Given the description of an element on the screen output the (x, y) to click on. 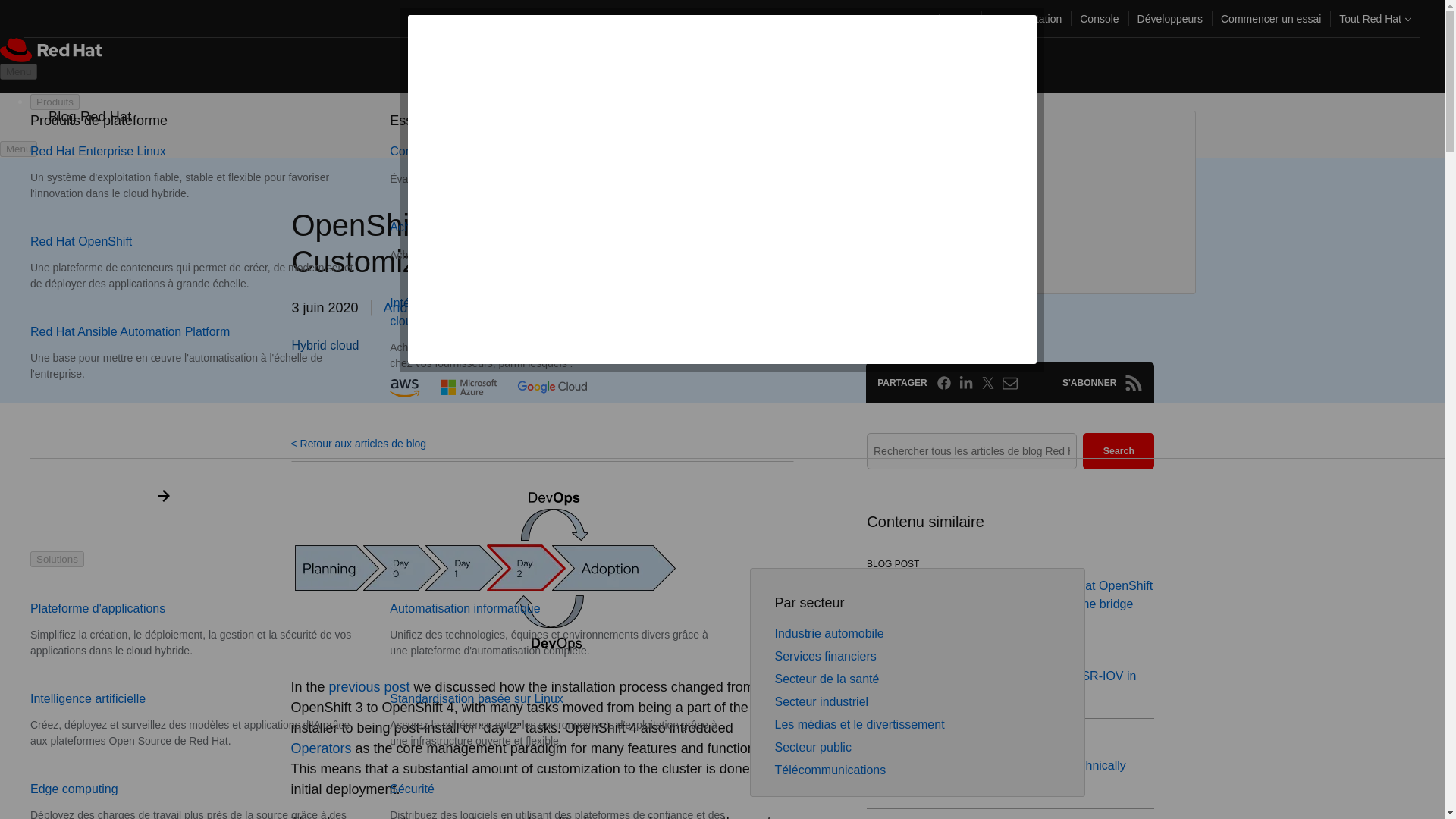
Documentation (1025, 18)
Commencer un essai (1270, 18)
S'abonner (1132, 382)
Assistance (946, 18)
Tout Red Hat (1375, 18)
Console (1098, 18)
See more by Andrew Sullivan (432, 307)
